Given the description of an element on the screen output the (x, y) to click on. 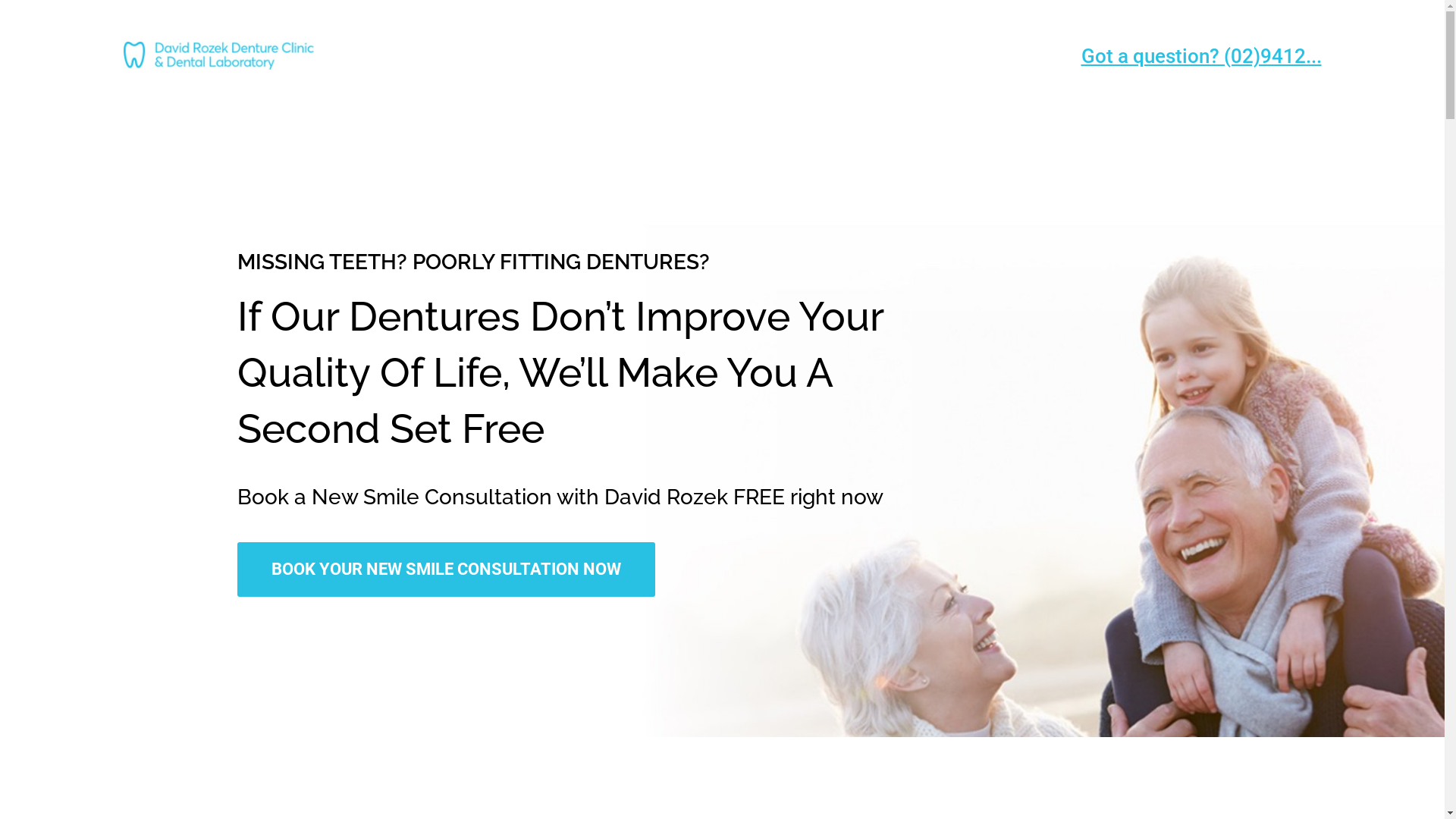
Got a question? (02)9412... Element type: text (1201, 54)
BOOK YOUR NEW SMILE CONSULTATION NOW Element type: text (445, 569)
